Given the description of an element on the screen output the (x, y) to click on. 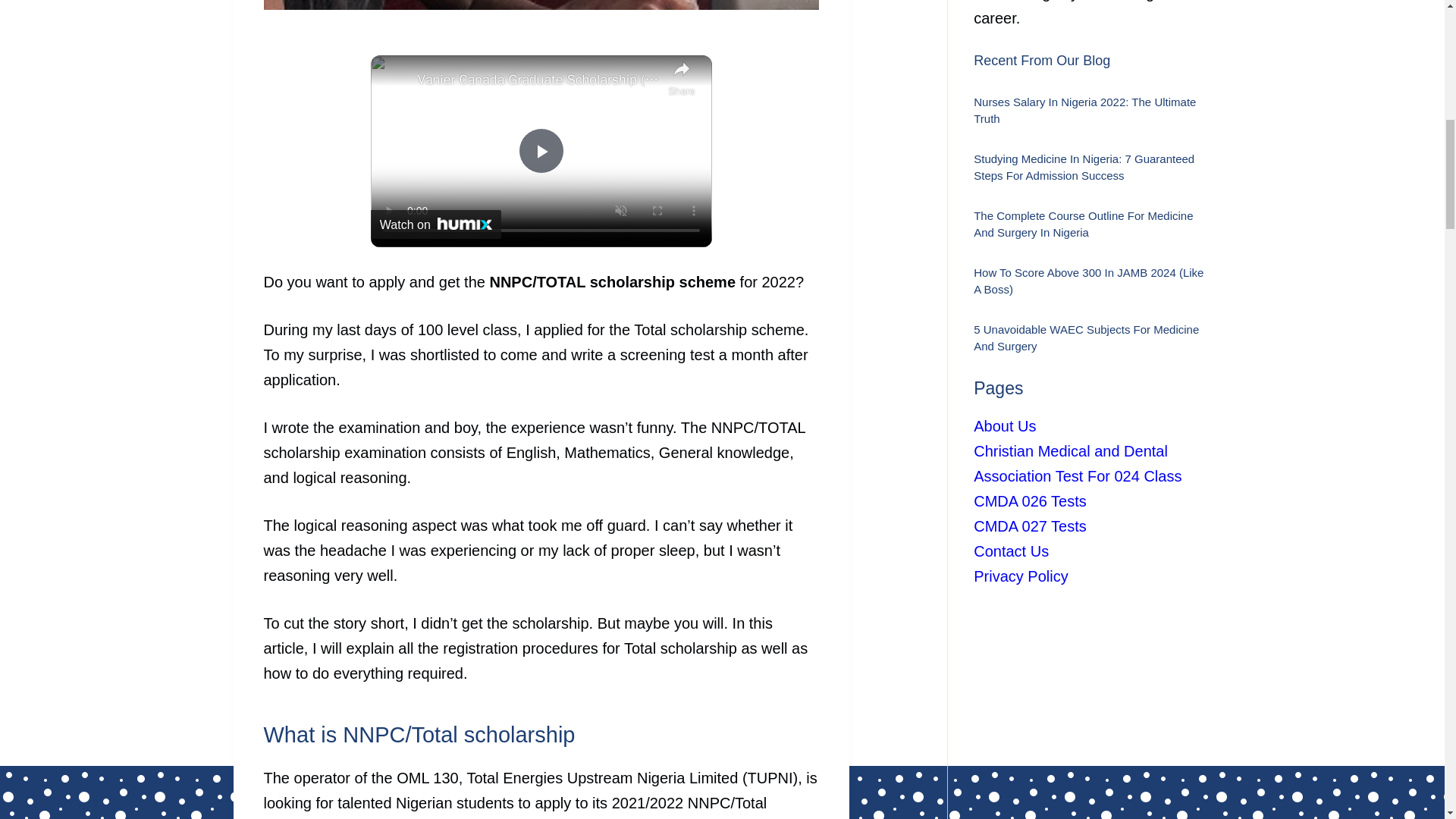
Play Video (541, 150)
Play Video (541, 150)
